Given the description of an element on the screen output the (x, y) to click on. 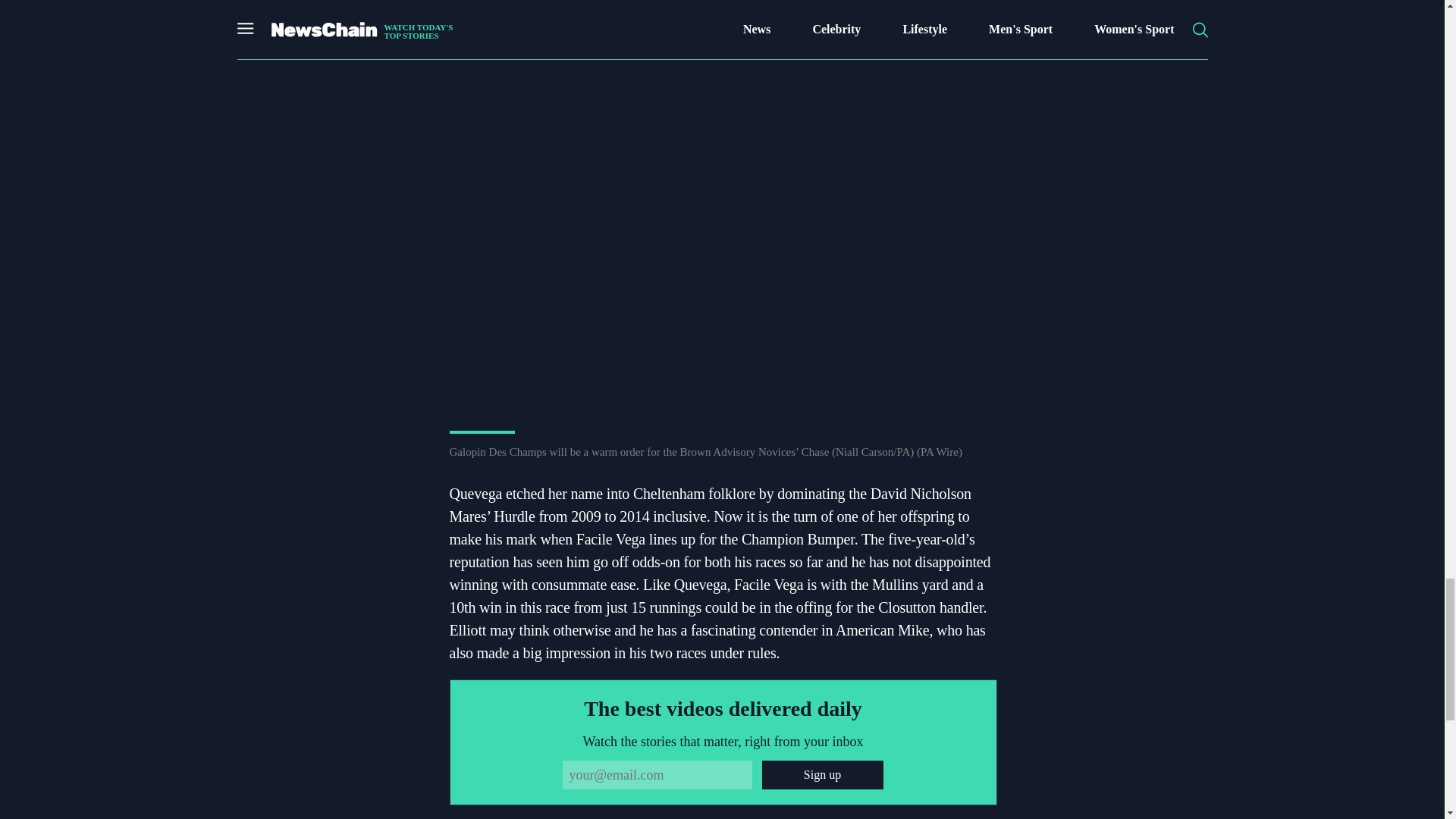
Sign up (822, 774)
Sign up (822, 774)
